Given the description of an element on the screen output the (x, y) to click on. 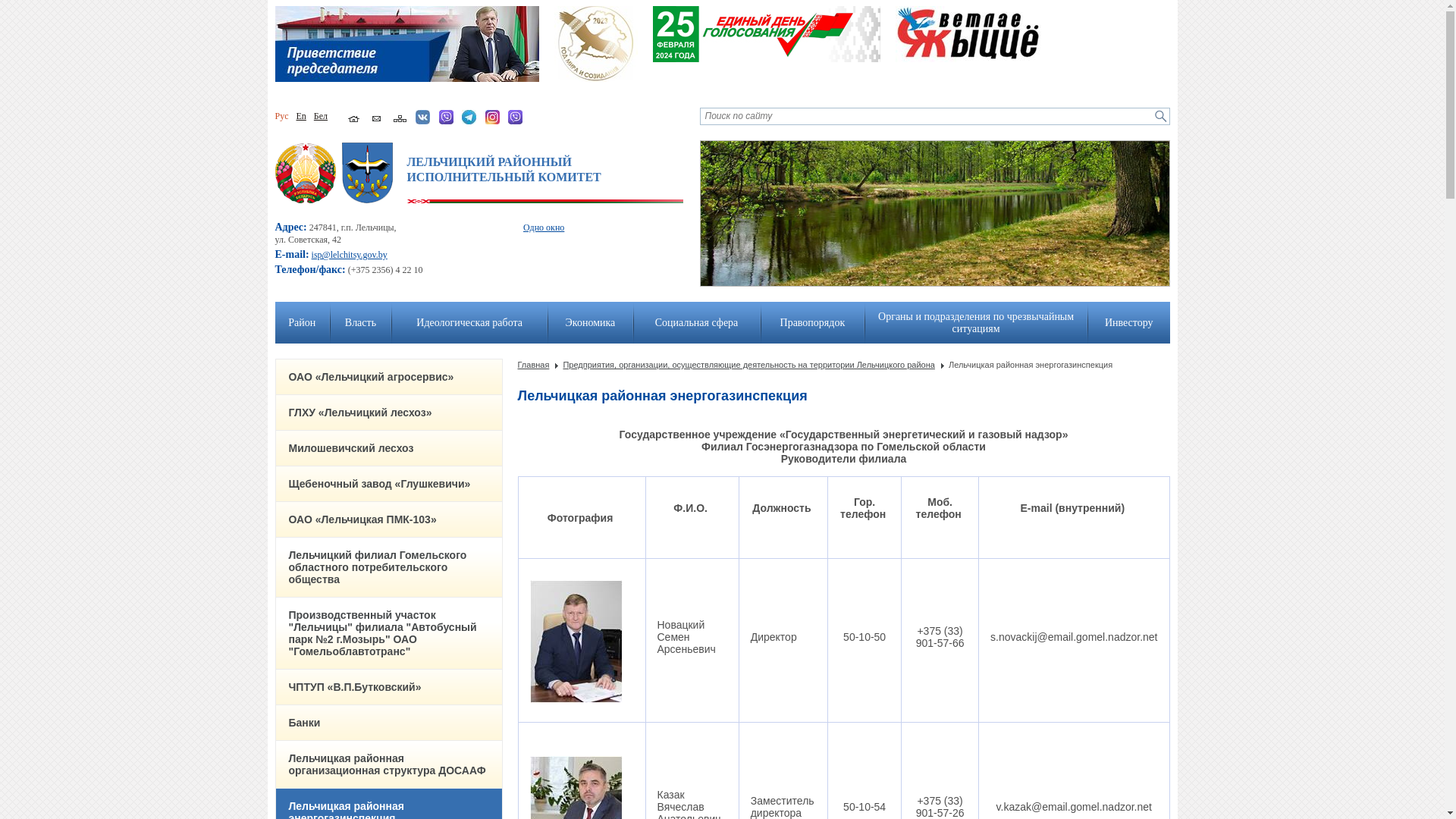
instagram Element type: hover (492, 116)
En Element type: text (300, 115)
instagram Element type: hover (492, 121)
isp@lelchitsy.gov.by Element type: text (349, 254)
